Given the description of an element on the screen output the (x, y) to click on. 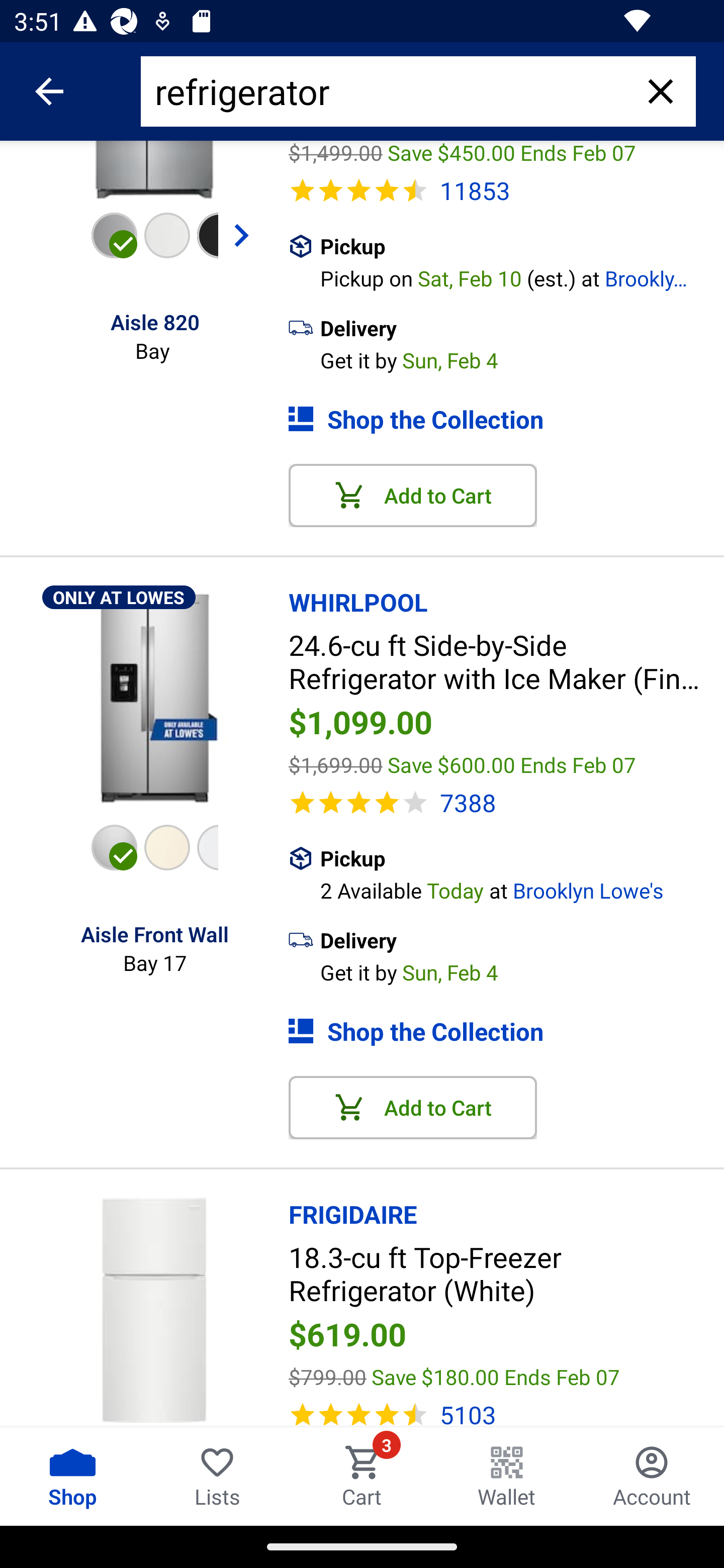
Navigate up (49, 91)
refrigerator (389, 91)
Pickup on Sat, Feb 10 (est.)  at  Brooklyn Lowe's (522, 276)
Shop the Collection (506, 419)
Add to Cart (412, 495)
2 Available Today  at  Brooklyn Lowe's (522, 887)
Shop the Collection (506, 1030)
Add to Cart (412, 1107)
Lists (216, 1475)
Cart Cart 3 (361, 1475)
Wallet (506, 1475)
Account (651, 1475)
